Given the description of an element on the screen output the (x, y) to click on. 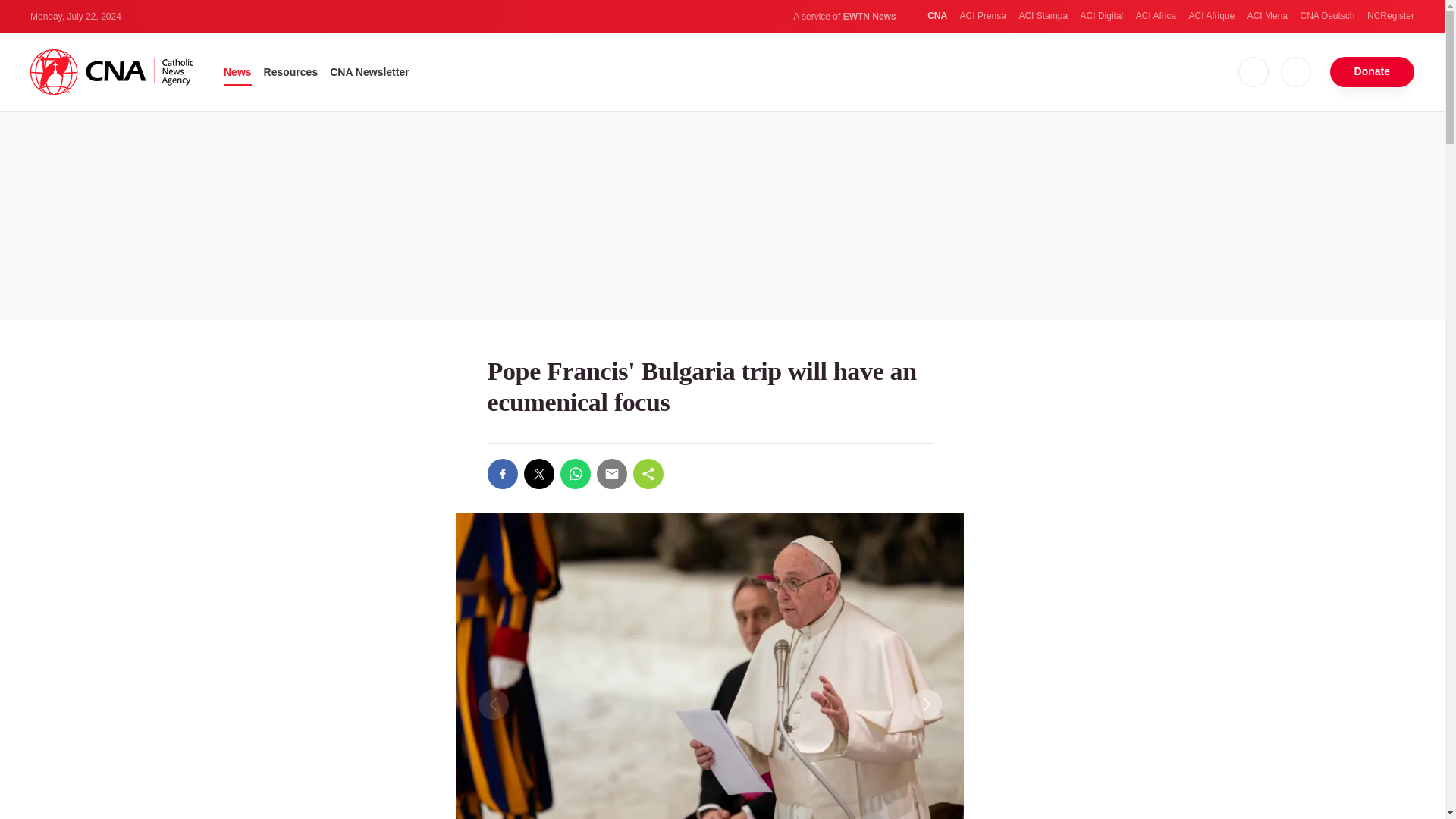
EWTN News (869, 16)
News (237, 71)
EWTN News (869, 16)
ACI Digital (1102, 16)
Resources (290, 71)
ACI Stampa (1042, 16)
NCRegister (1390, 16)
ACI Afrique (1211, 16)
ACI Mena (1267, 16)
ACI Africa (1155, 16)
ACI Prensa (982, 16)
CNA Deutsch (1327, 16)
CNA (937, 16)
